Given the description of an element on the screen output the (x, y) to click on. 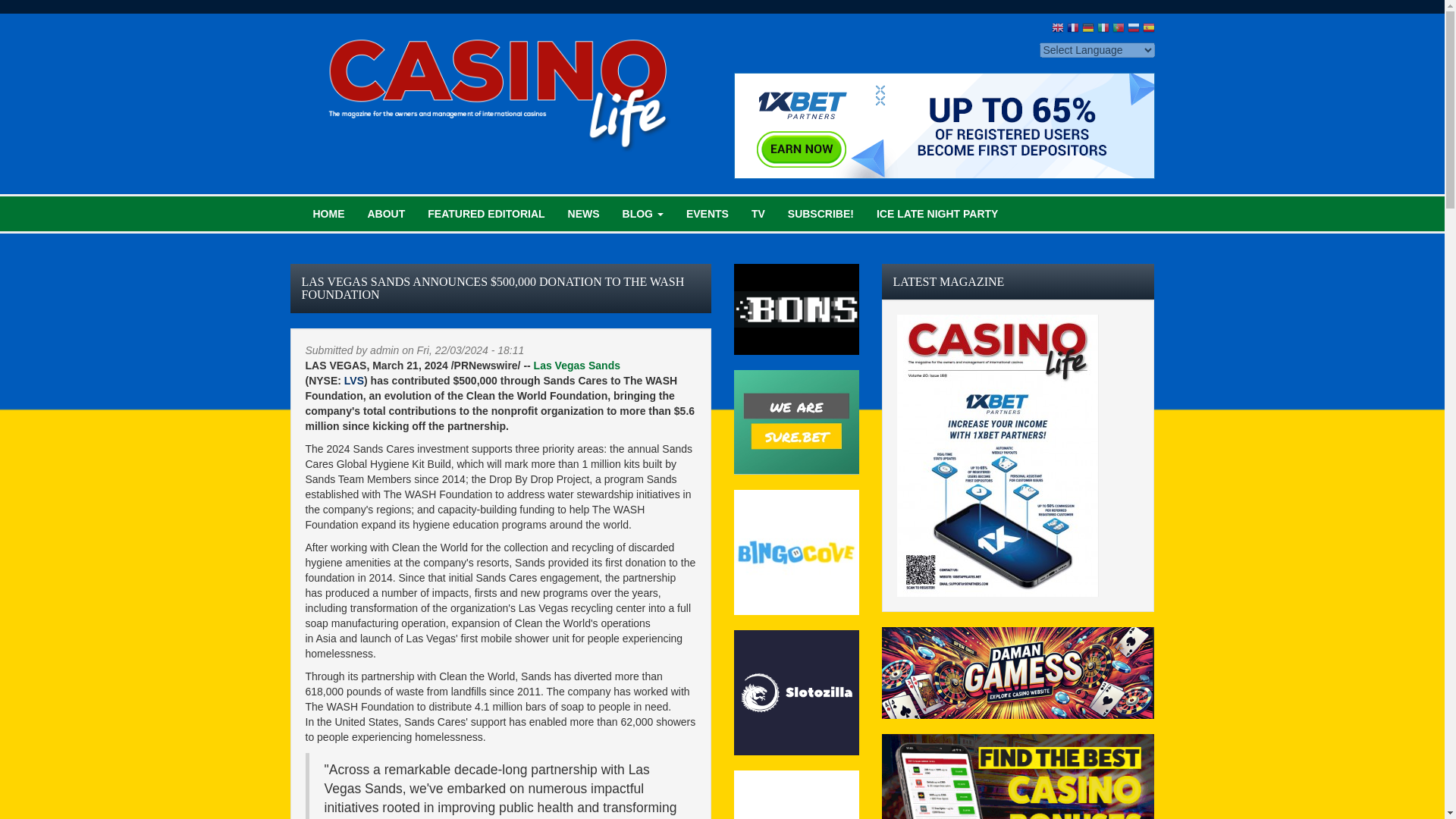
ICE LATE NIGHT PARTY (936, 213)
Las Vegas Sands (577, 365)
FEATURED EDITORIAL (486, 213)
LVS (353, 380)
BLOG (643, 213)
SUBSCRIBE! (820, 213)
HOME (328, 213)
NEWS (583, 213)
ABOUT (386, 213)
EVENTS (707, 213)
Home (499, 86)
TV (757, 213)
